Given the description of an element on the screen output the (x, y) to click on. 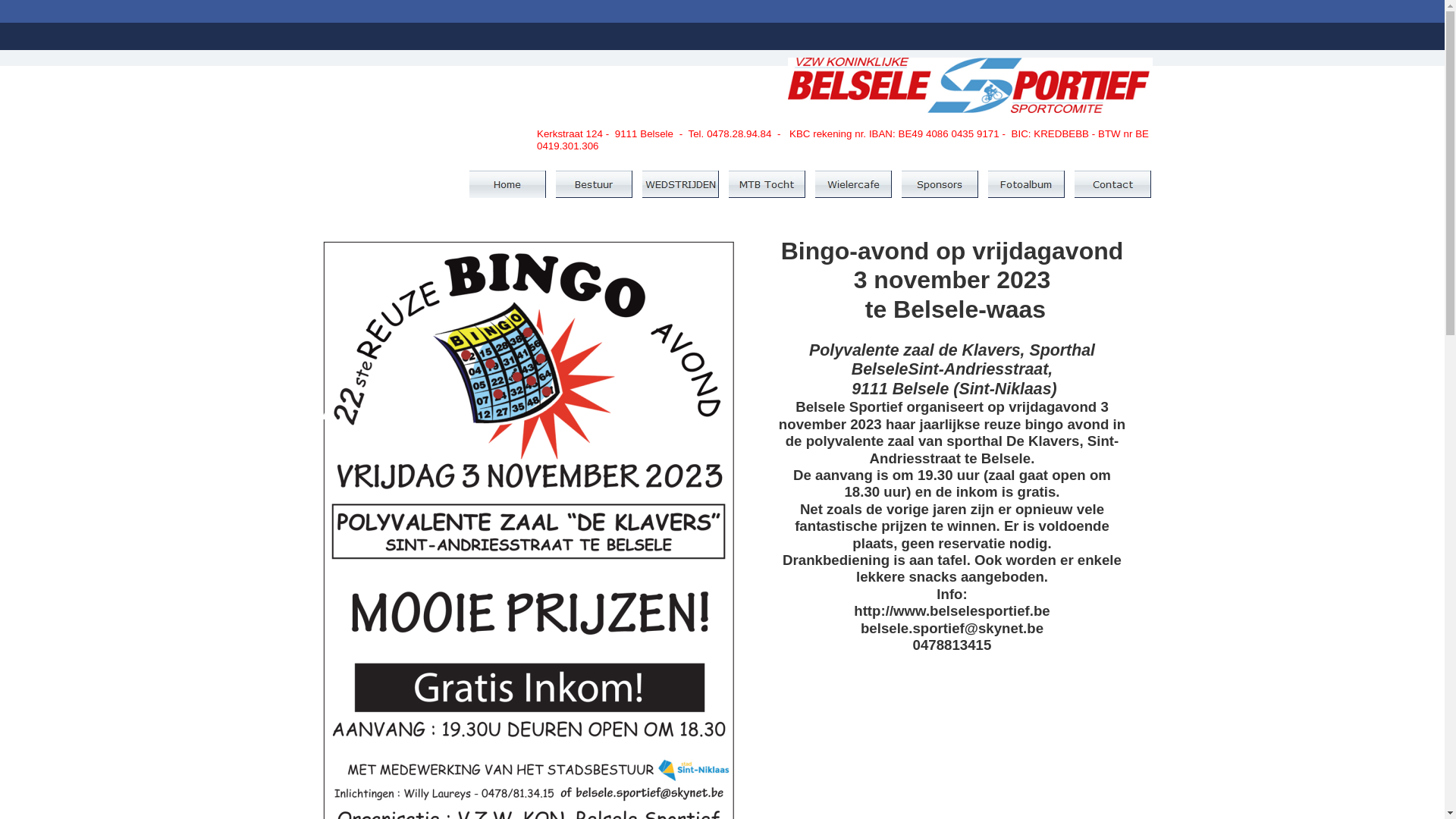
Sponsors Element type: hover (939, 183)
Bestuur Element type: hover (593, 183)
Fotoalbum Element type: hover (1026, 183)
Home Element type: hover (507, 183)
HEADER1 Element type: hover (969, 90)
WEDSTRIJDEN Element type: hover (680, 183)
Contact Element type: hover (1112, 183)
MTB Tocht Element type: hover (766, 183)
Wielercafe Element type: hover (853, 183)
